Given the description of an element on the screen output the (x, y) to click on. 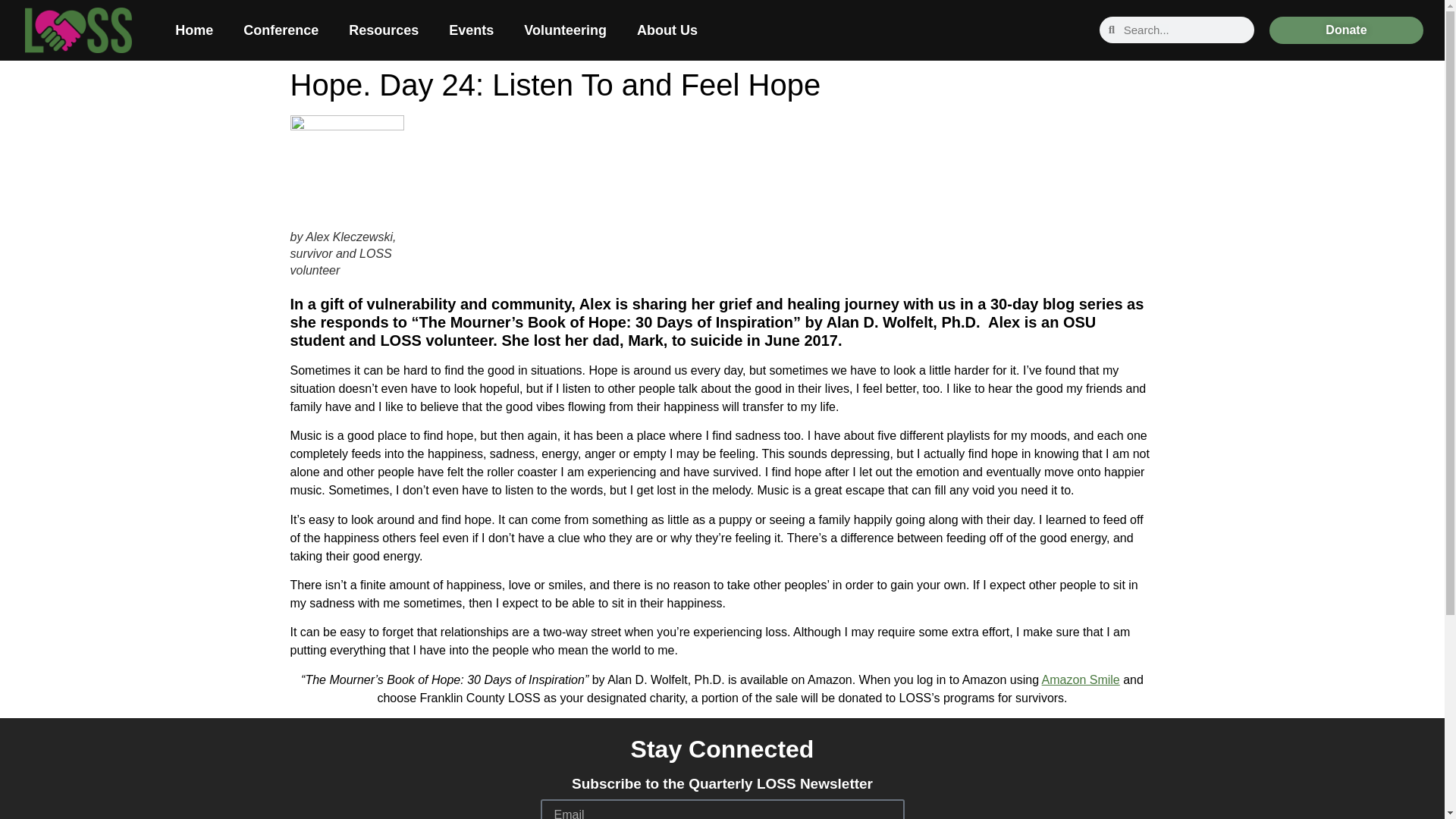
Donate (1346, 30)
Resources (383, 30)
About Us (667, 30)
Amazon Smile (1080, 679)
Conference (280, 30)
Home (194, 30)
Volunteering (564, 30)
Events (470, 30)
